Given the description of an element on the screen output the (x, y) to click on. 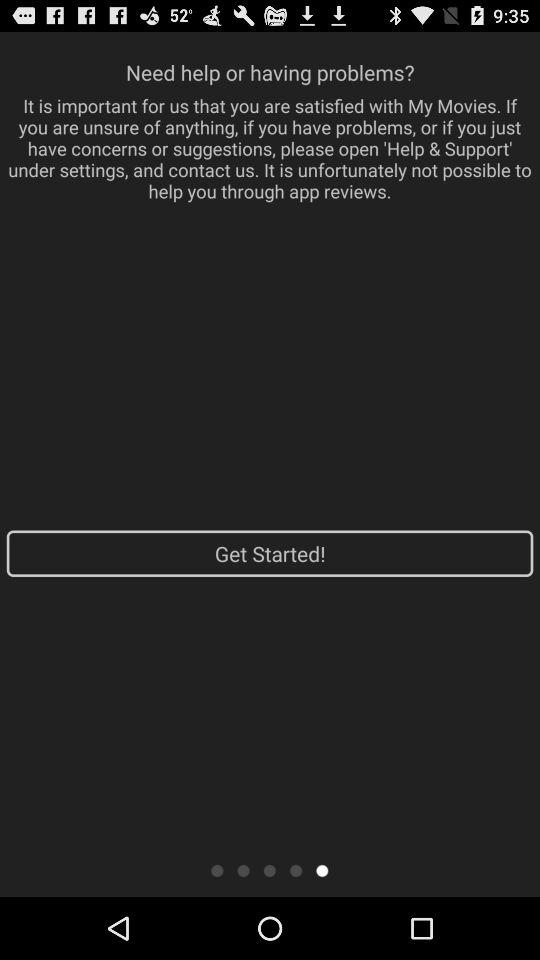
go to previous (243, 870)
